Given the description of an element on the screen output the (x, y) to click on. 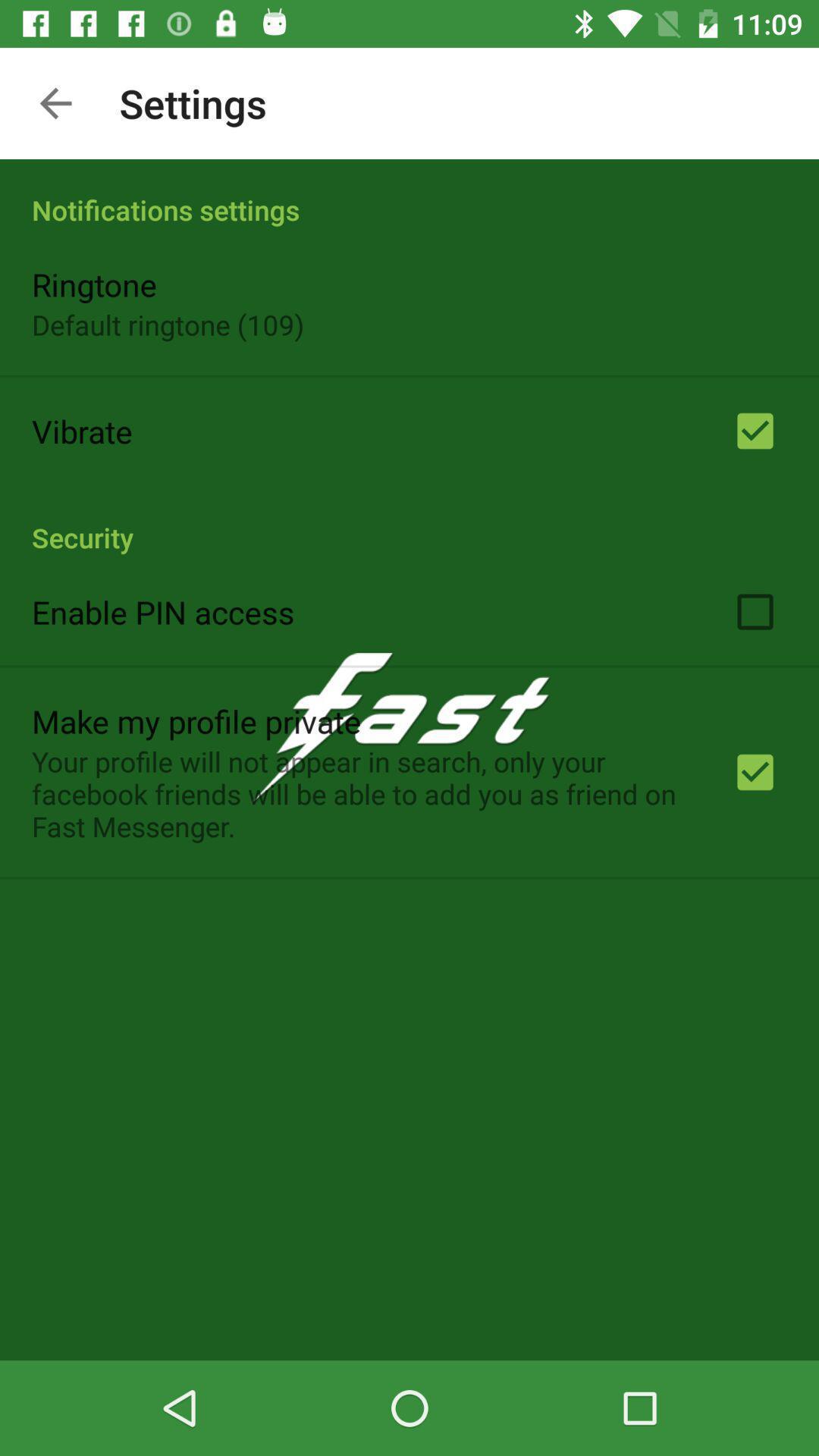
tap the enable pin access app (162, 611)
